Given the description of an element on the screen output the (x, y) to click on. 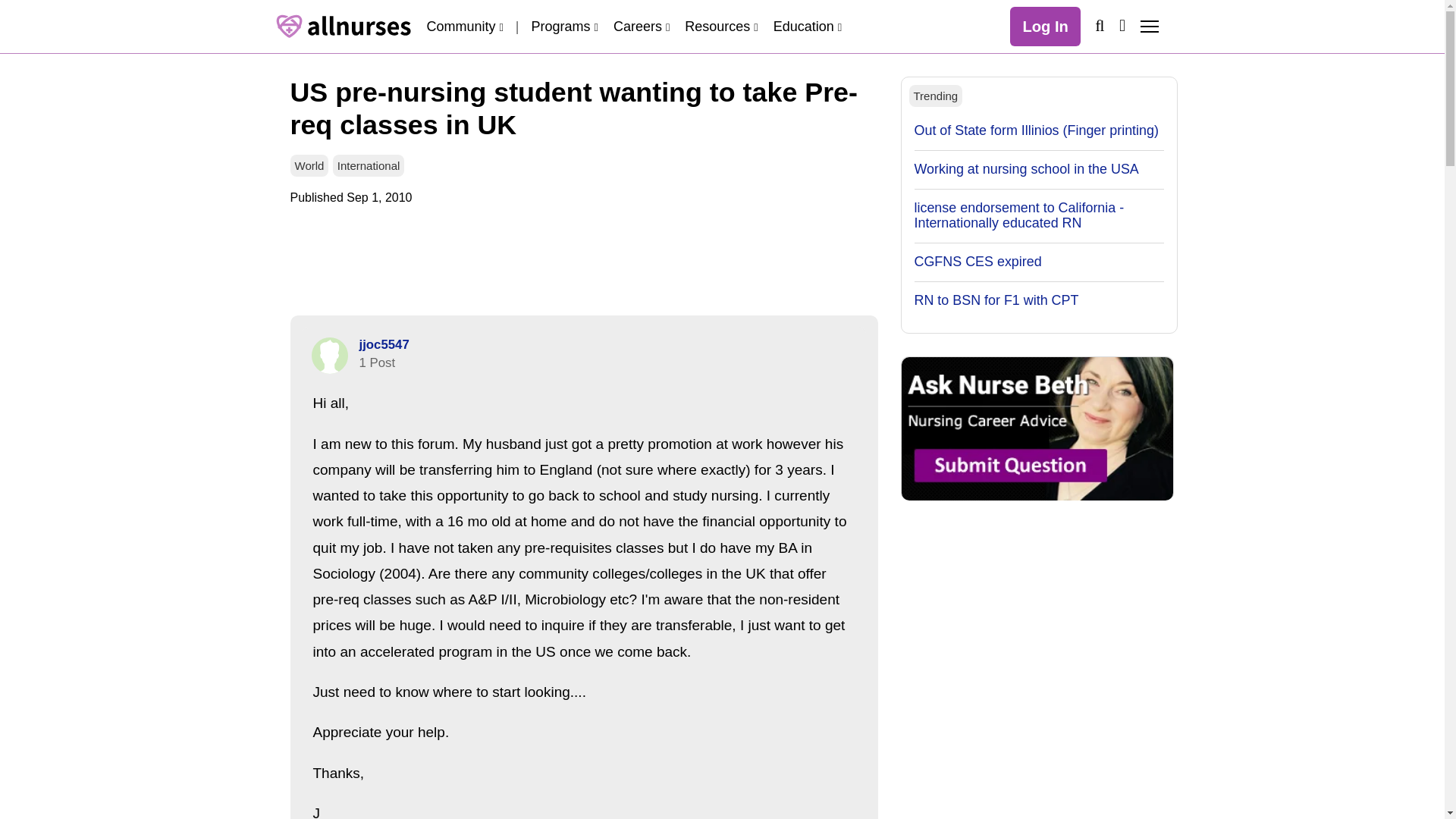
Programs (564, 26)
Go to jjoc5547's profile (329, 355)
Go to jjoc5547's profile (384, 344)
Community (465, 26)
Up-to-date information on nursing programs in the U.S. (564, 26)
